Given the description of an element on the screen output the (x, y) to click on. 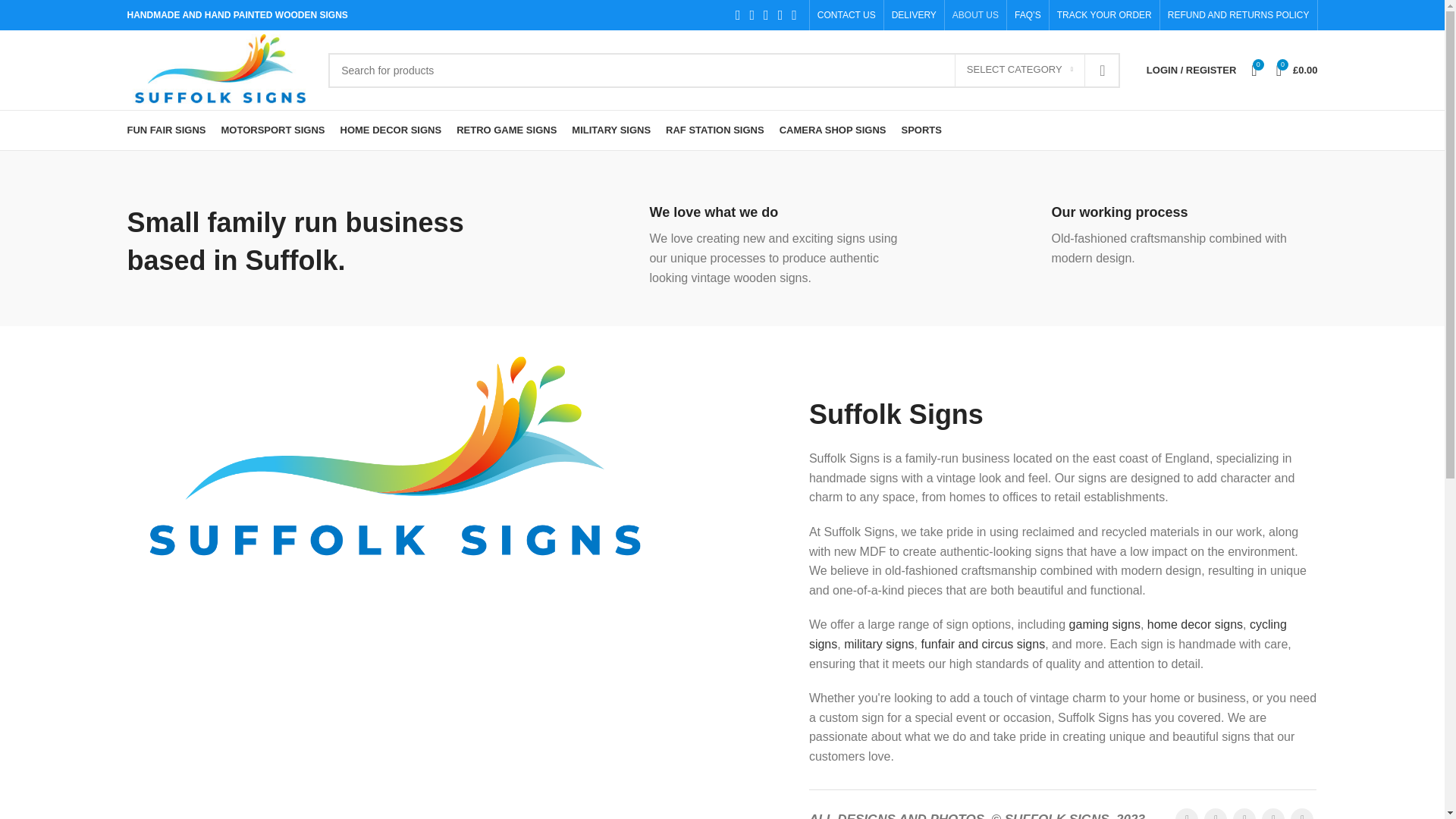
RETRO GAME SIGNS (506, 130)
SELECT CATEGORY (1019, 70)
SEARCH (1101, 70)
My account (1190, 69)
CONTACT US (846, 15)
Search for products (724, 70)
REFUND AND RETURNS POLICY (1237, 15)
DELIVERY (913, 15)
FUN FAIR SIGNS (167, 130)
ABOUT US (975, 15)
MOTORSPORT SIGNS (272, 130)
MILITARY SIGNS (611, 130)
HOME DECOR SIGNS (391, 130)
Shopping cart (1296, 69)
TRACK YOUR ORDER (1104, 15)
